Given the description of an element on the screen output the (x, y) to click on. 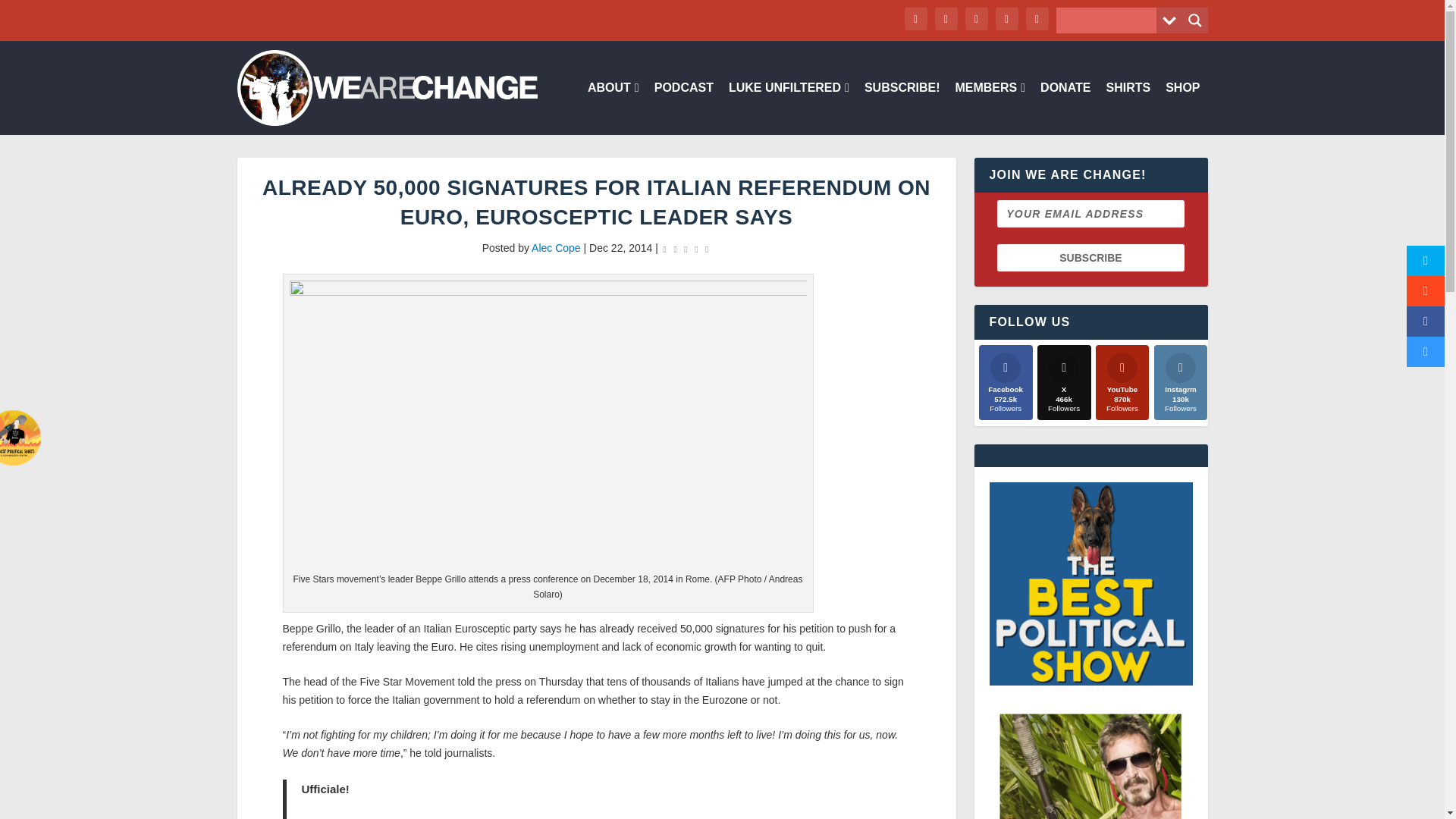
MEMBERS (990, 108)
Rating: 0.00 (686, 248)
Posts by Alec Cope (555, 247)
Subscribe (1090, 257)
About (613, 108)
SUBSCRIBE! (902, 108)
LUKE UNFILTERED (788, 108)
Alec Cope (555, 247)
PODCAST (683, 108)
DONATE (1065, 108)
